Given the description of an element on the screen output the (x, y) to click on. 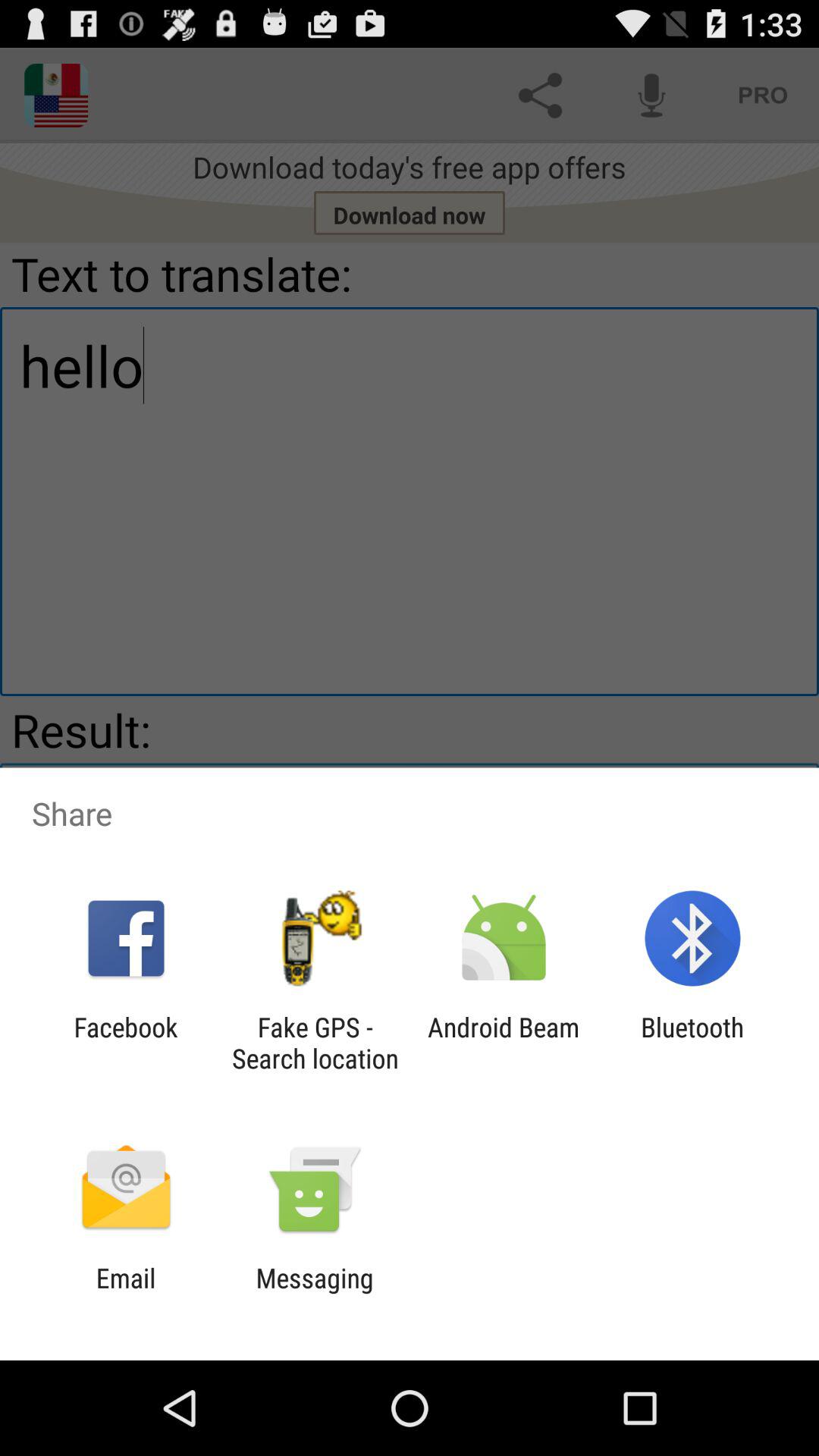
scroll to the fake gps search app (314, 1042)
